Given the description of an element on the screen output the (x, y) to click on. 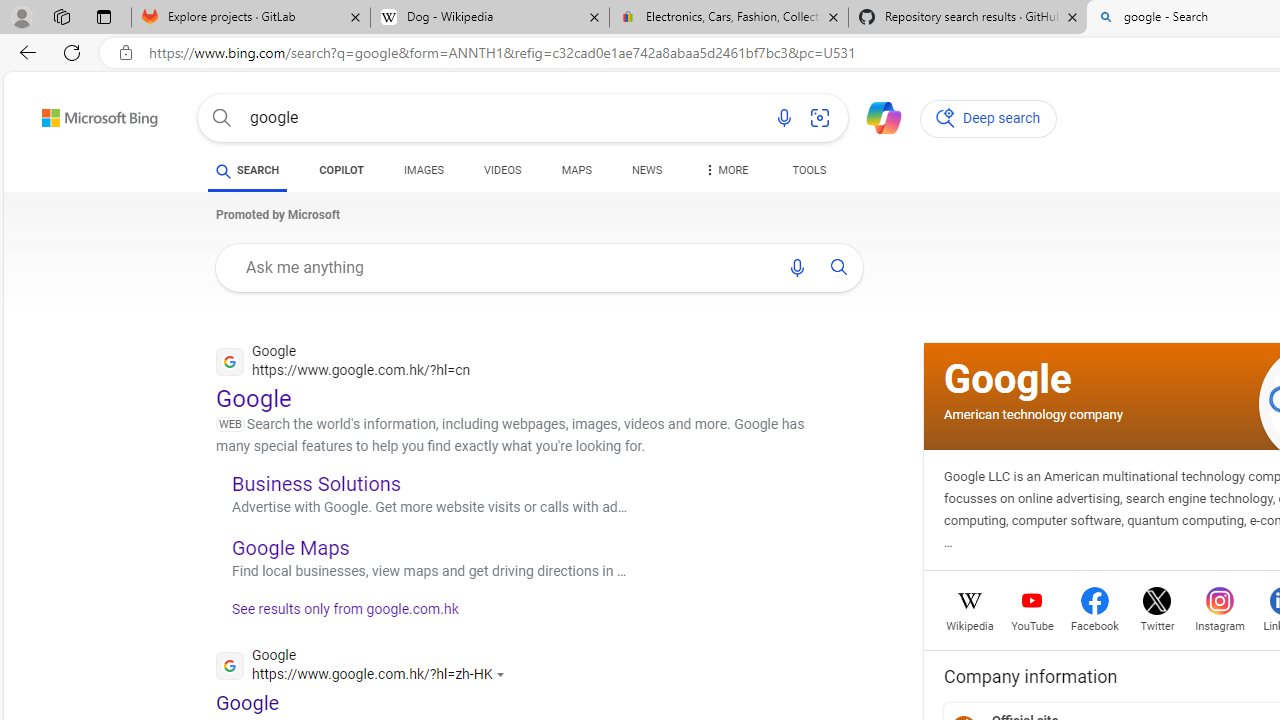
Chat (875, 116)
Dropdown Menu (724, 170)
Google Maps (290, 547)
MAPS (576, 173)
SEARCH (247, 170)
YouTube (1032, 624)
Facebook (1094, 624)
COPILOT (341, 170)
